Given the description of an element on the screen output the (x, y) to click on. 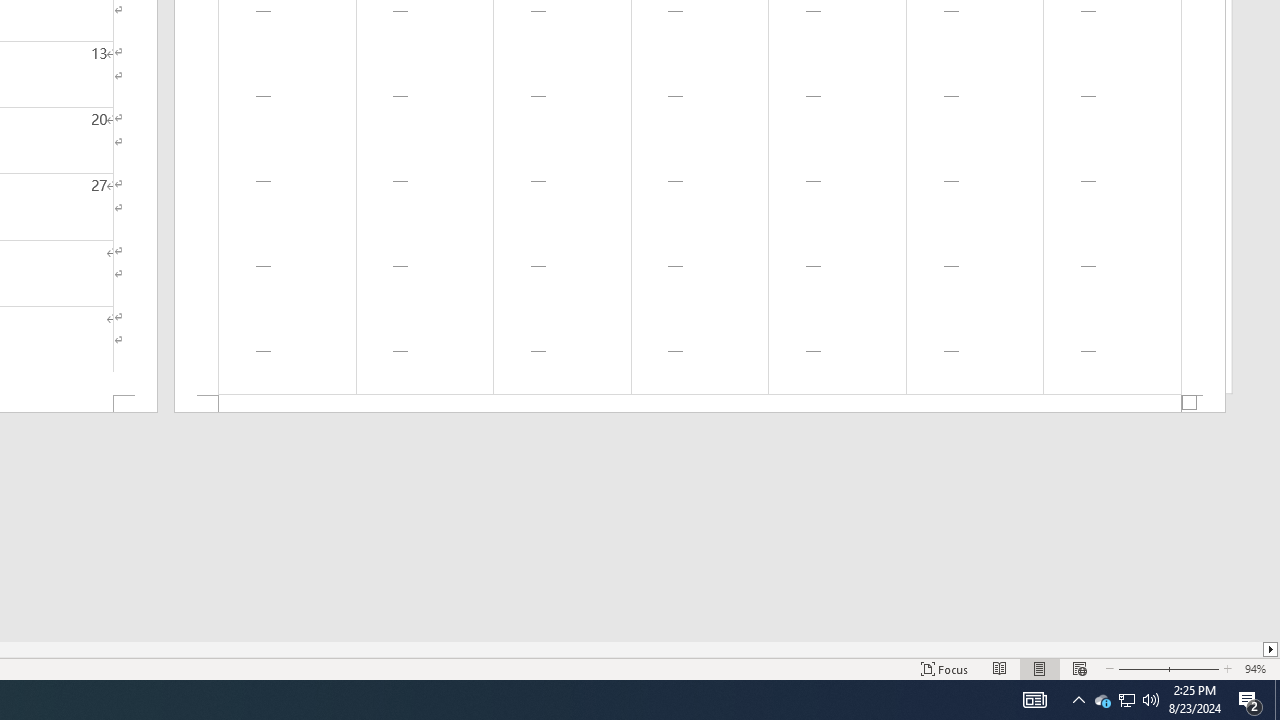
Column right (1271, 649)
